Given the description of an element on the screen output the (x, y) to click on. 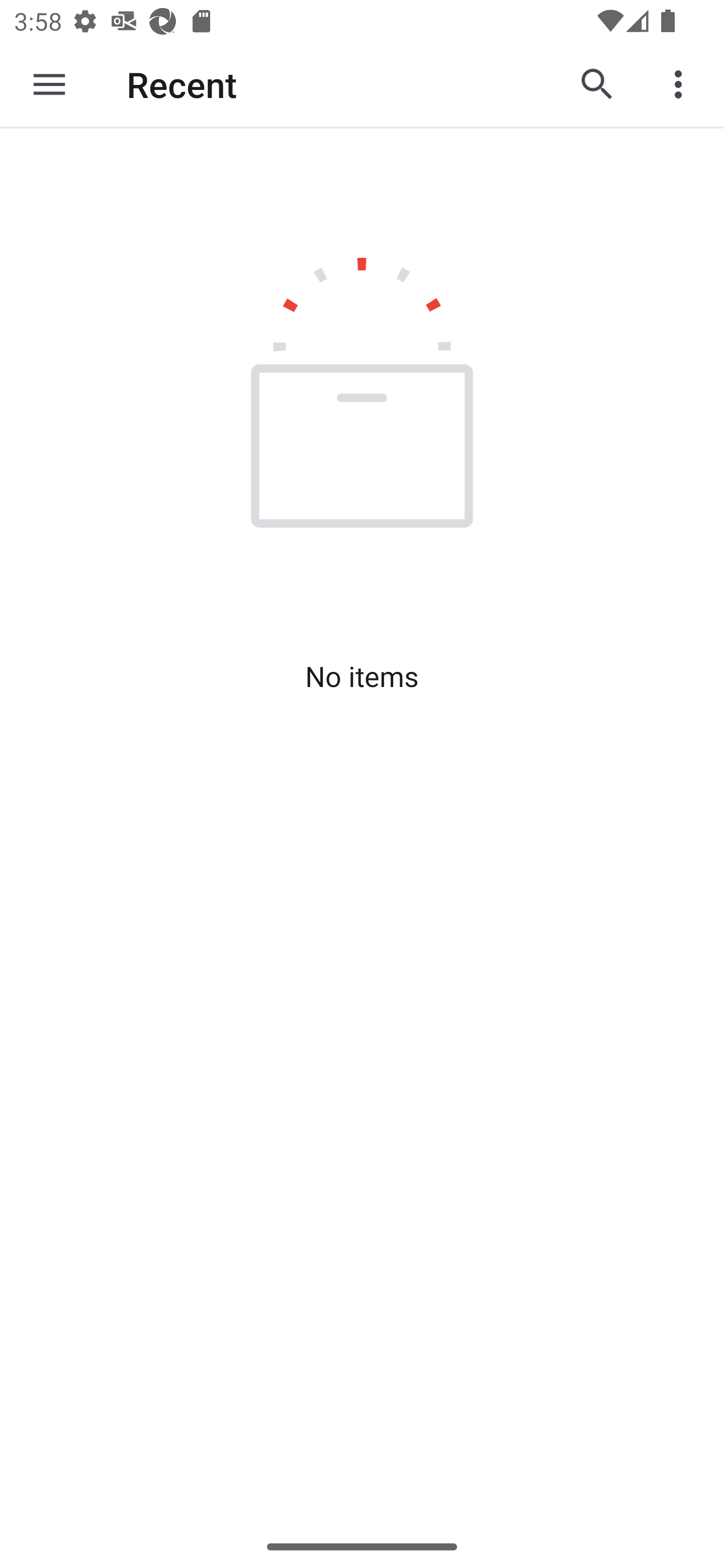
Show roots (49, 84)
Search (597, 84)
More options (681, 84)
